Given the description of an element on the screen output the (x, y) to click on. 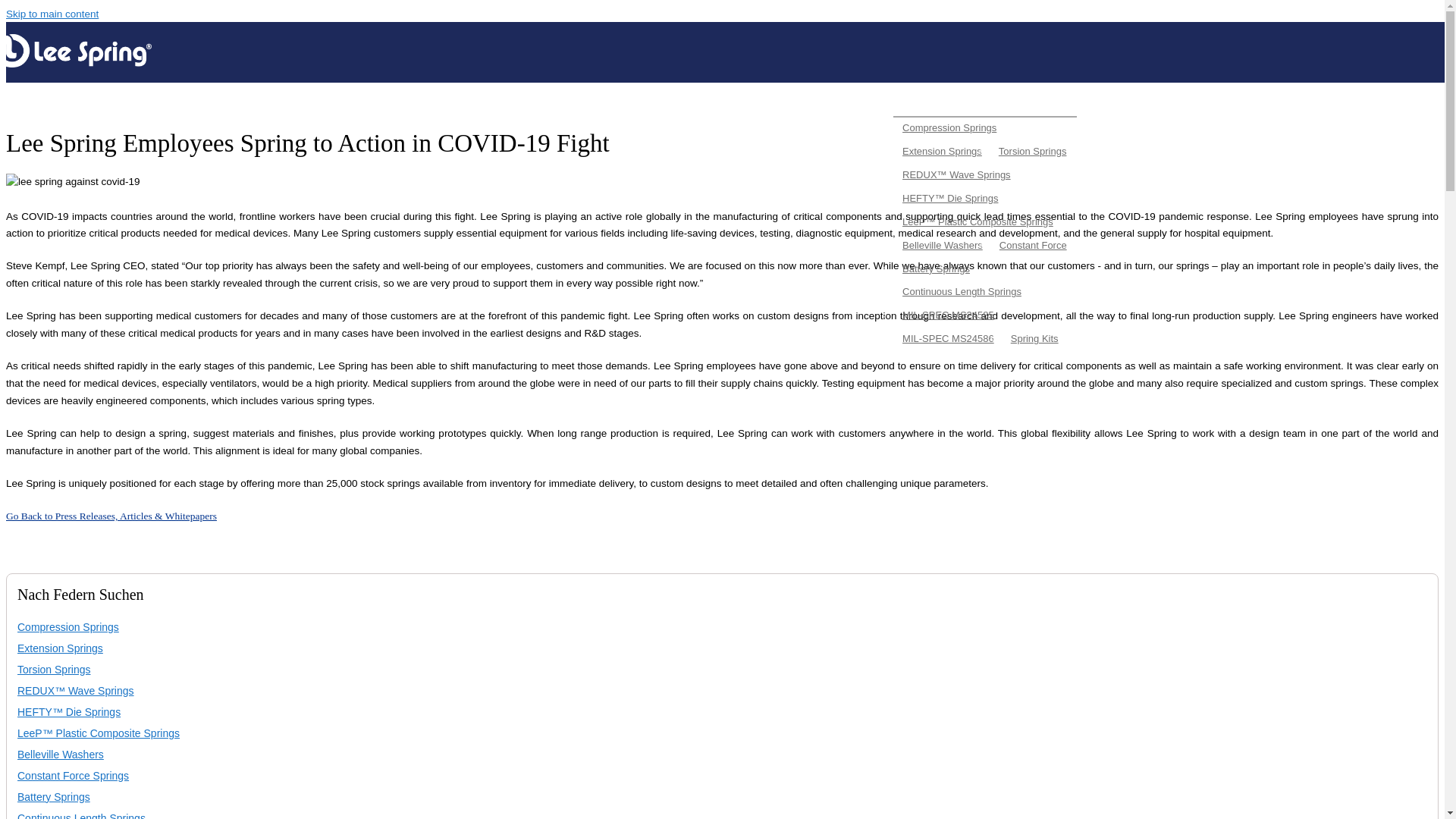
Continuous Length Springs (961, 291)
Extension Springs (941, 150)
Skip to main content (52, 13)
Home (75, 63)
MIL-SPEC MS24586 (948, 338)
About Us (864, 106)
Constant Force (1033, 244)
Belleville Washers (942, 244)
Imprint (1368, 106)
Resource Center (1300, 106)
